Given the description of an element on the screen output the (x, y) to click on. 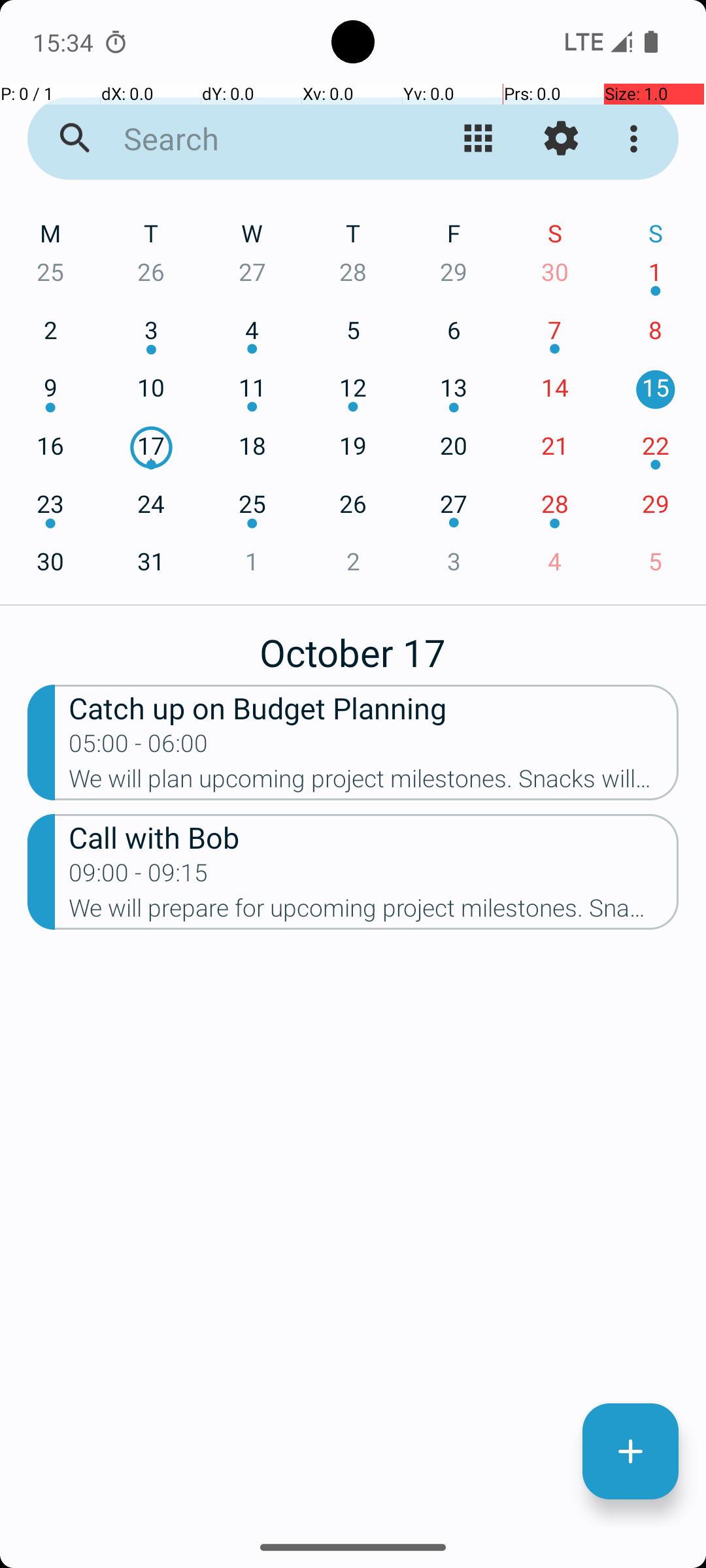
October 17 Element type: android.widget.TextView (352, 644)
05:00 - 06:00 Element type: android.widget.TextView (137, 747)
We will plan upcoming project milestones. Snacks will be provided. Element type: android.widget.TextView (373, 782)
Call with Bob Element type: android.widget.TextView (373, 836)
09:00 - 09:15 Element type: android.widget.TextView (137, 876)
We will prepare for upcoming project milestones. Snacks will be provided. Element type: android.widget.TextView (373, 911)
